Given the description of an element on the screen output the (x, y) to click on. 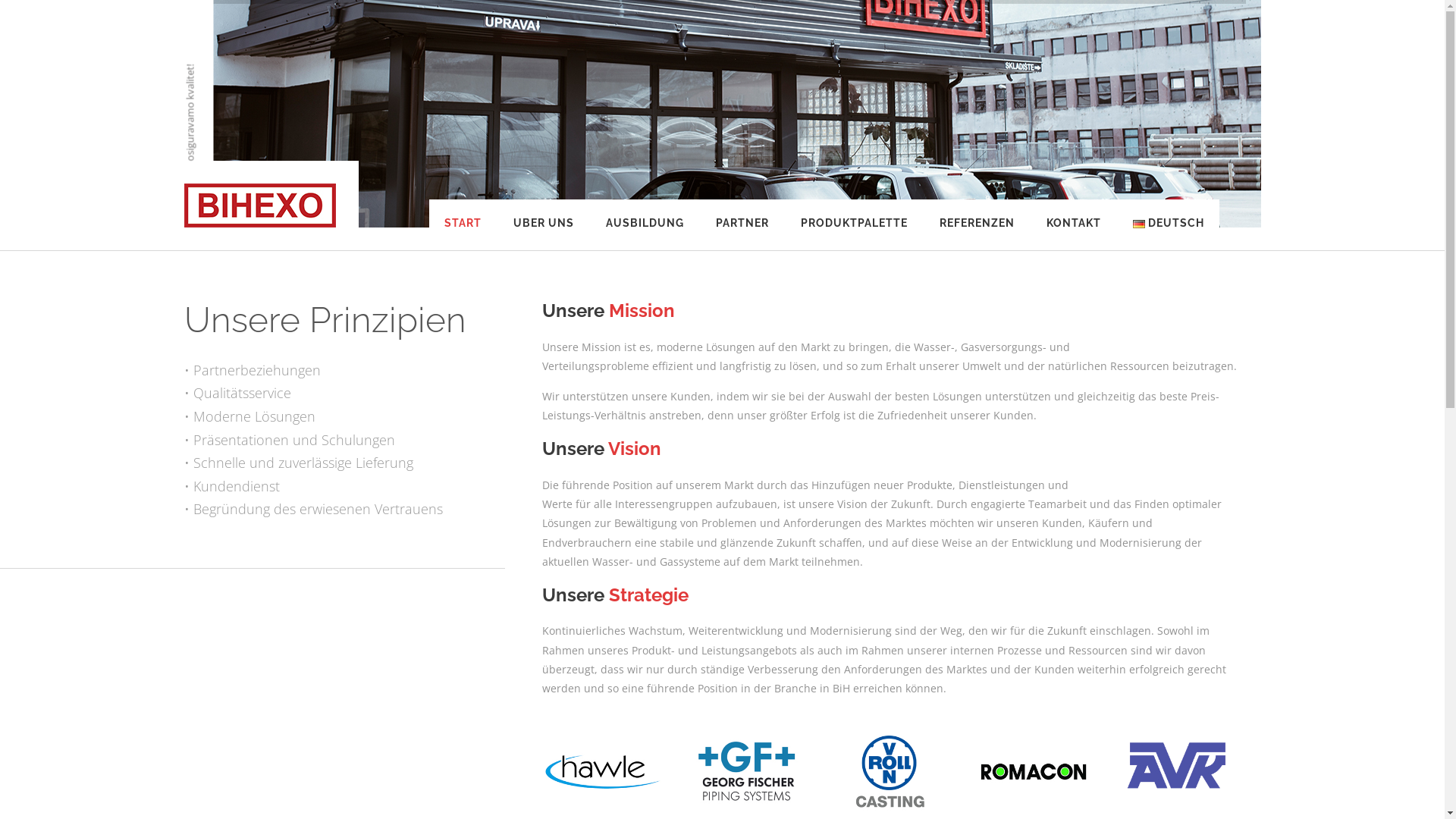
KONTAKT Element type: text (1073, 234)
PARTNER Element type: text (742, 234)
AUSBILDUNG Element type: text (644, 234)
DEUTSCH Element type: text (1168, 234)
UBER UNS Element type: text (543, 234)
START Element type: text (462, 234)
REFERENZEN Element type: text (977, 234)
PRODUKTPALETTE Element type: text (854, 234)
BIHEXO Element type: hover (259, 205)
